Given the description of an element on the screen output the (x, y) to click on. 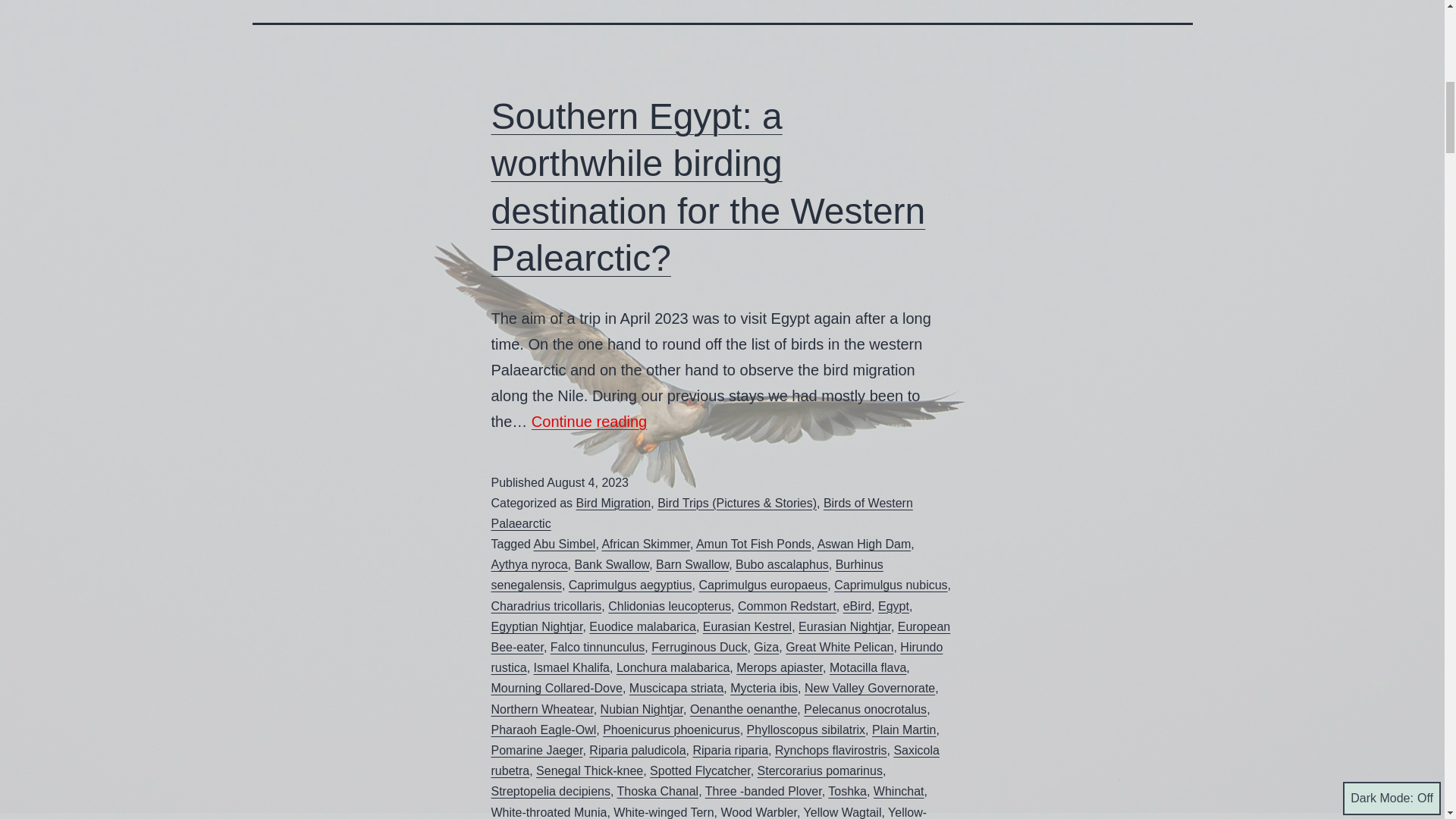
Bird Migration (613, 502)
Birds of Western Palaearctic (702, 512)
